Given the description of an element on the screen output the (x, y) to click on. 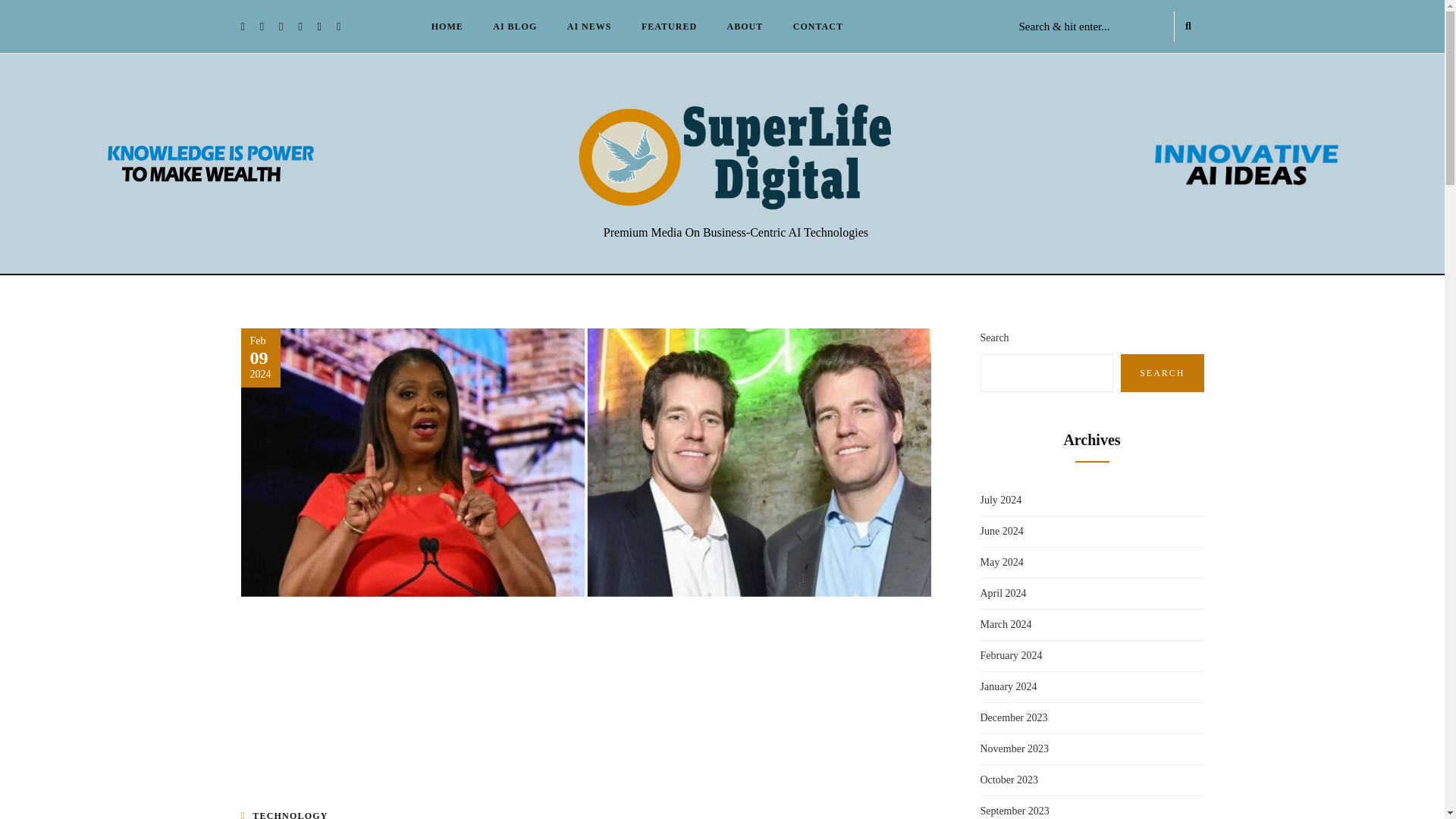
FEATURED (668, 26)
CONTACT (817, 26)
AI NEWS (589, 26)
TECHNOLOGY (289, 814)
AI BLOG (514, 26)
HOME (447, 26)
ABOUT (745, 26)
